Given the description of an element on the screen output the (x, y) to click on. 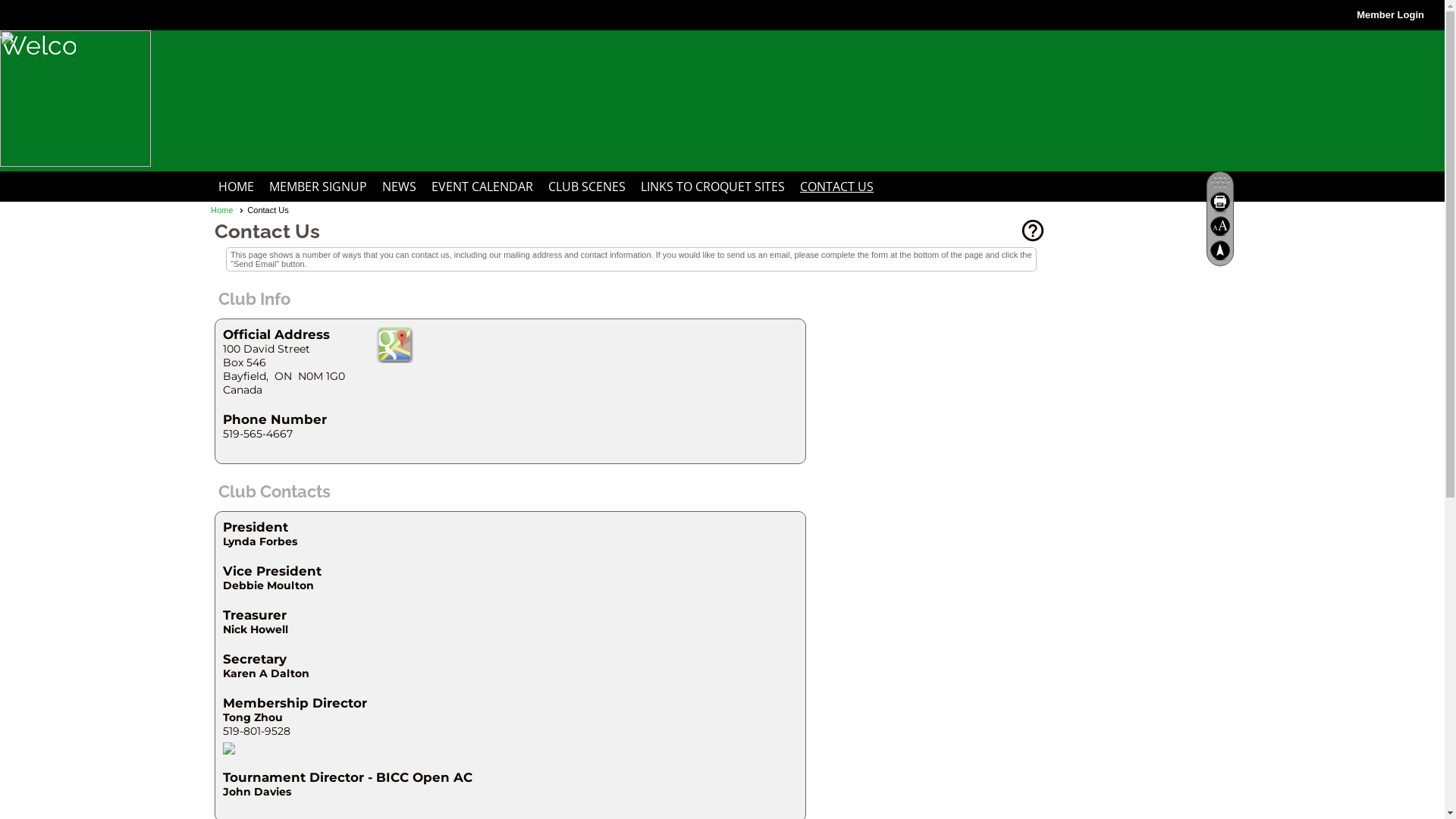
EVENT CALENDAR Element type: text (481, 186)
MEMBER SIGNUP Element type: text (317, 186)
Click 'Google Maps' for a map and directions to the club Element type: hover (394, 344)
help_outline Element type: text (1032, 232)
Home Element type: text (226, 209)
NEWS Element type: text (398, 186)
Go To Top Element type: hover (1220, 250)
Print Element type: hover (1220, 201)
Text Size Element type: hover (1220, 225)
LINKS TO CROQUET SITES Element type: text (712, 186)
CONTACT US Element type: text (836, 186)
CLUB SCENES Element type: text (586, 186)
Member Login Element type: text (1390, 14)
